Given the description of an element on the screen output the (x, y) to click on. 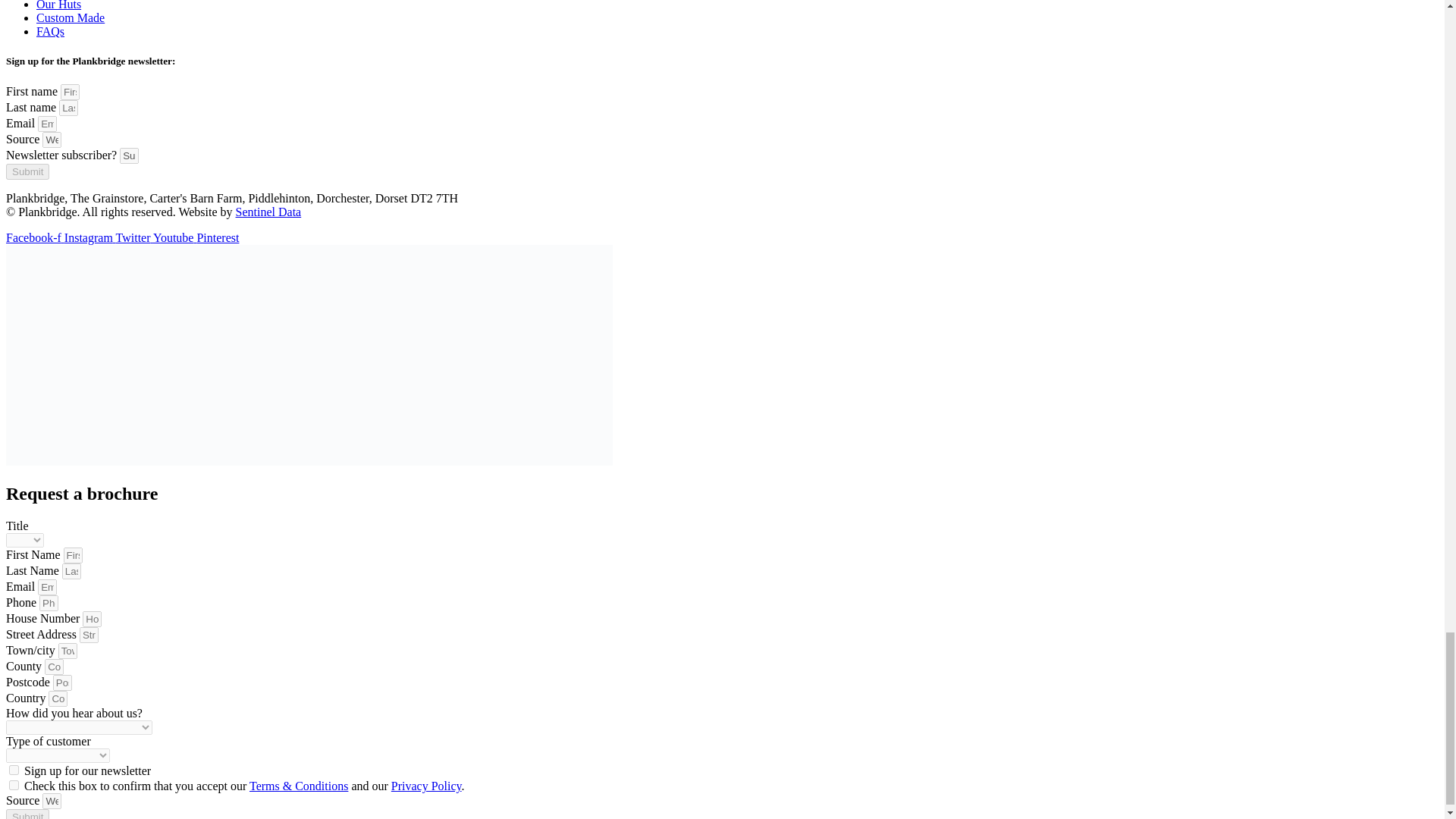
Website Newsletter (51, 139)
on (13, 769)
Subscribed (128, 155)
Website Brochure (51, 801)
on (13, 785)
